Given the description of an element on the screen output the (x, y) to click on. 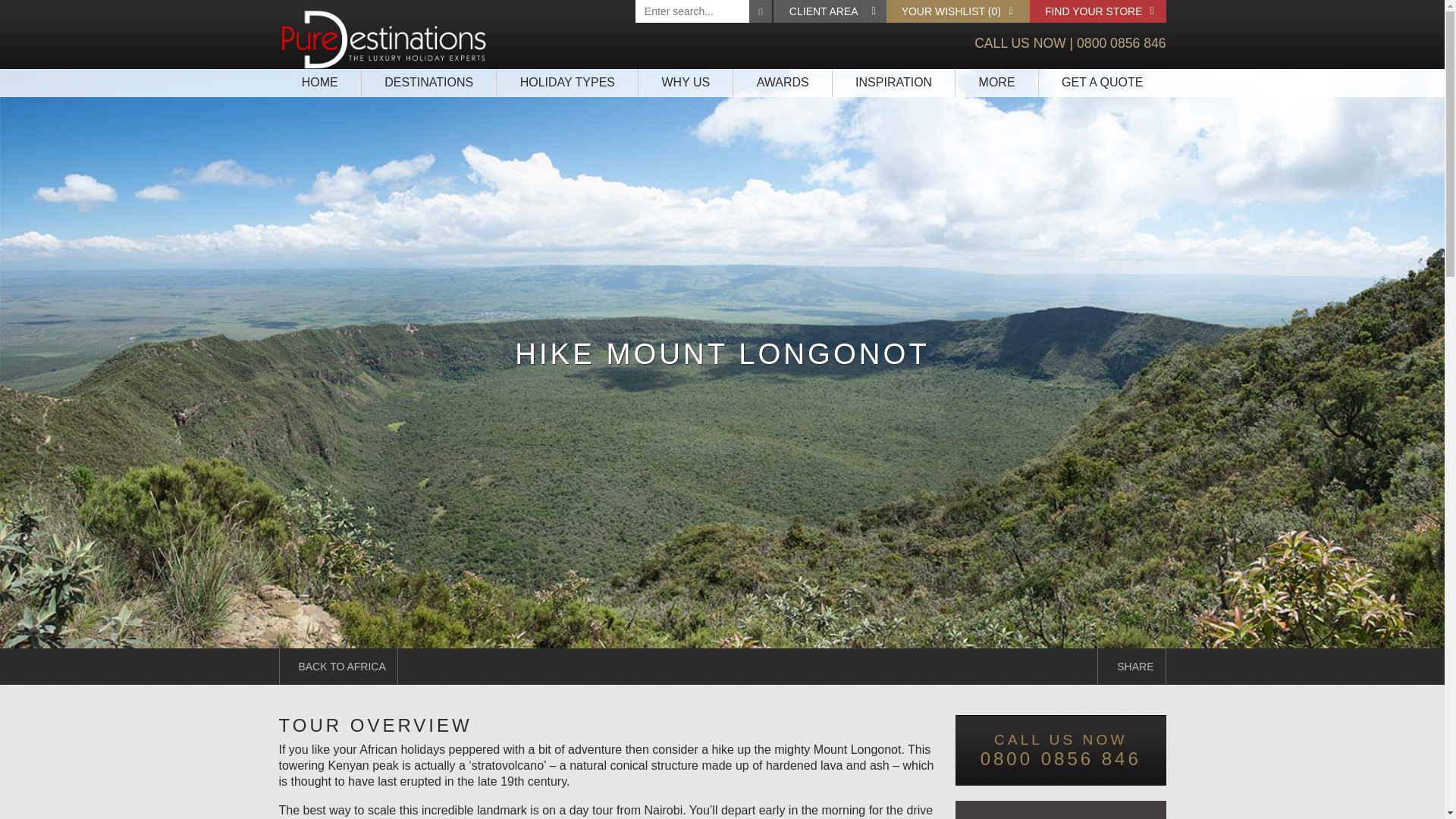
Search for: (702, 11)
HOME (320, 82)
CLIENT AREA (830, 11)
FIND YOUR STORE (1097, 11)
Home (320, 82)
Pure Destinations (384, 38)
DESTINATIONS (428, 82)
Client Area (830, 11)
Holiday Wishlist (957, 11)
Destinations (428, 82)
Find your store (1097, 11)
